Given the description of an element on the screen output the (x, y) to click on. 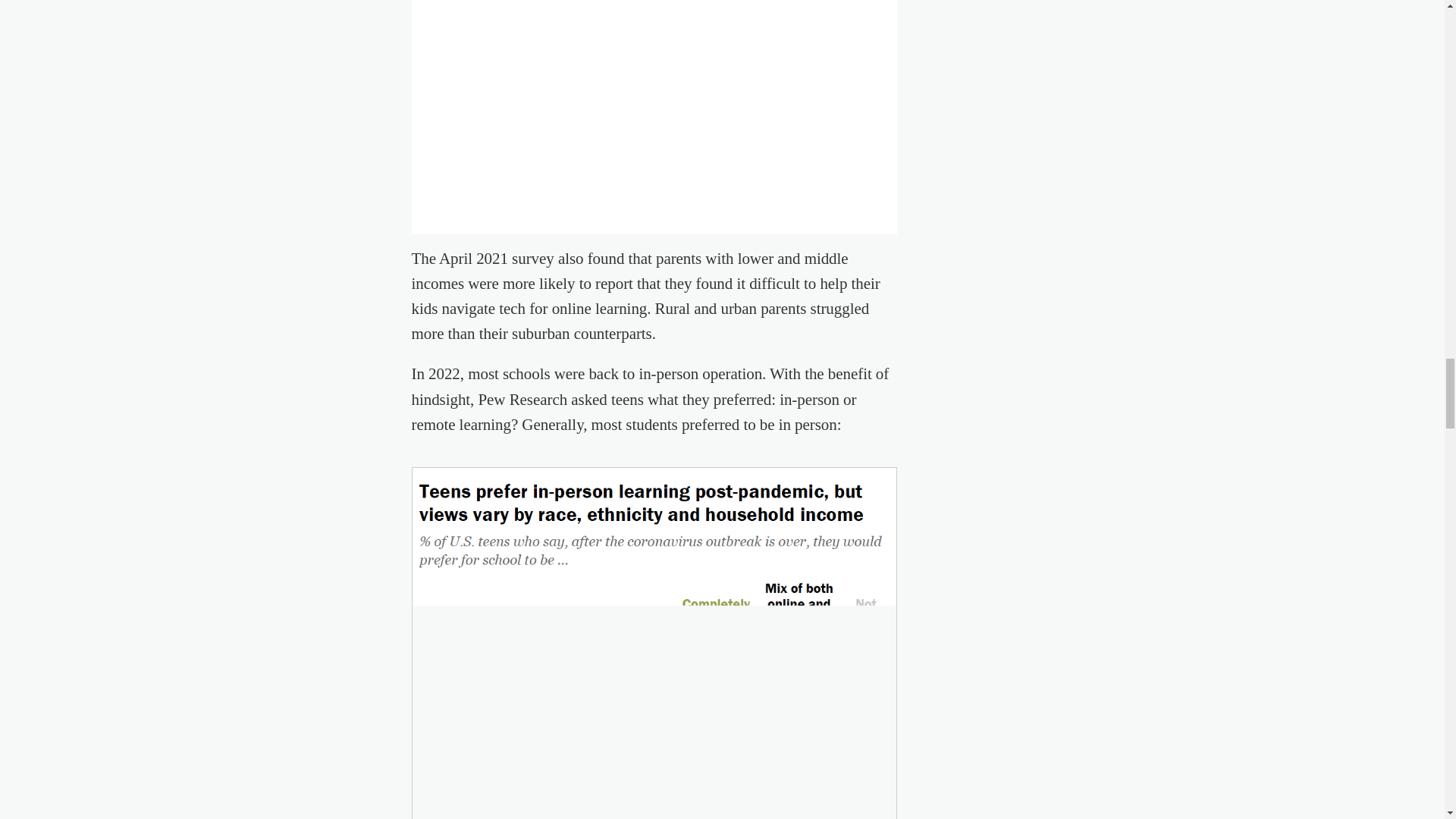
Percent of K-12 children with tech problems since Feb 2020 (653, 107)
